Given the description of an element on the screen output the (x, y) to click on. 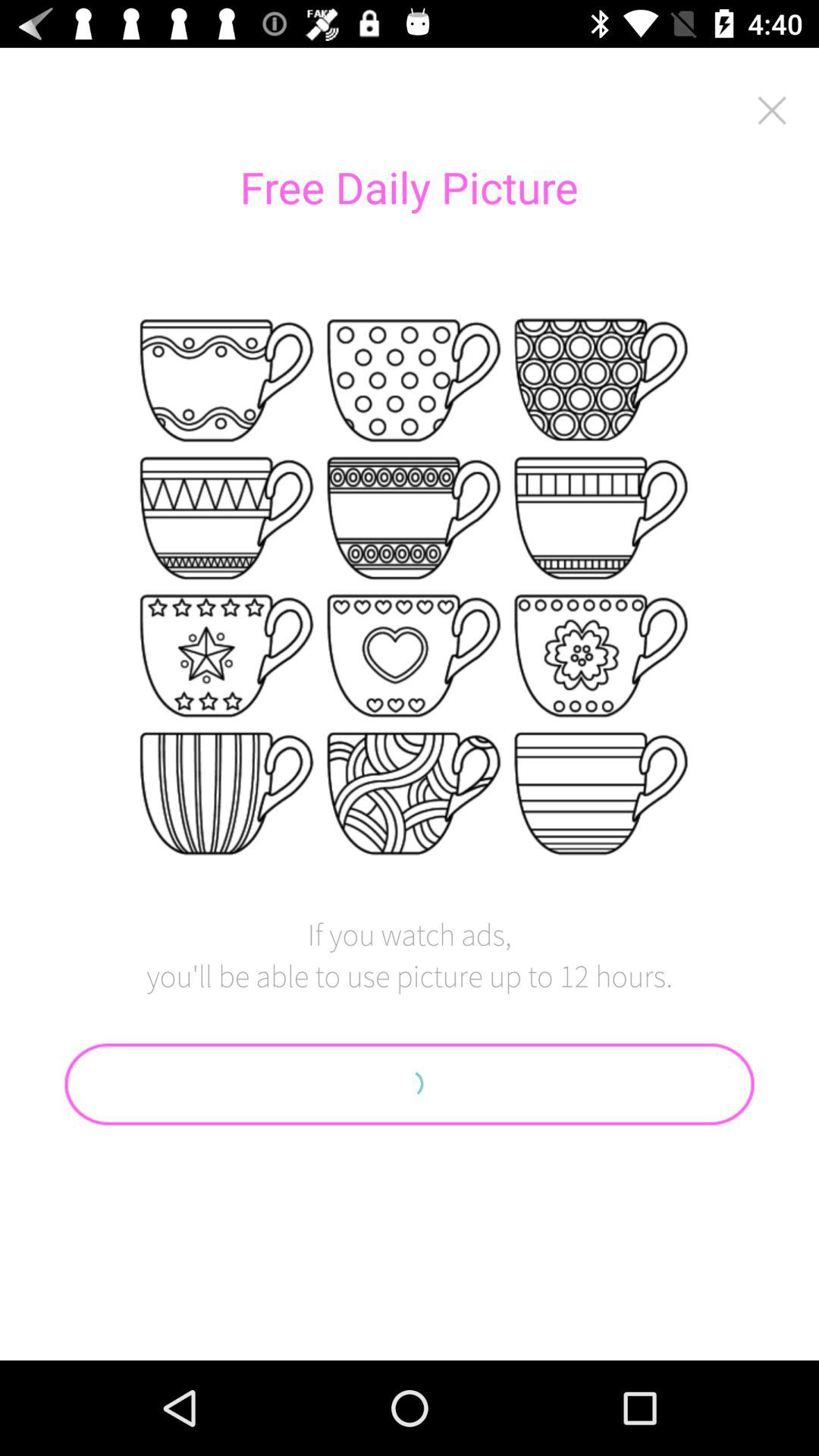
close (772, 110)
